Given the description of an element on the screen output the (x, y) to click on. 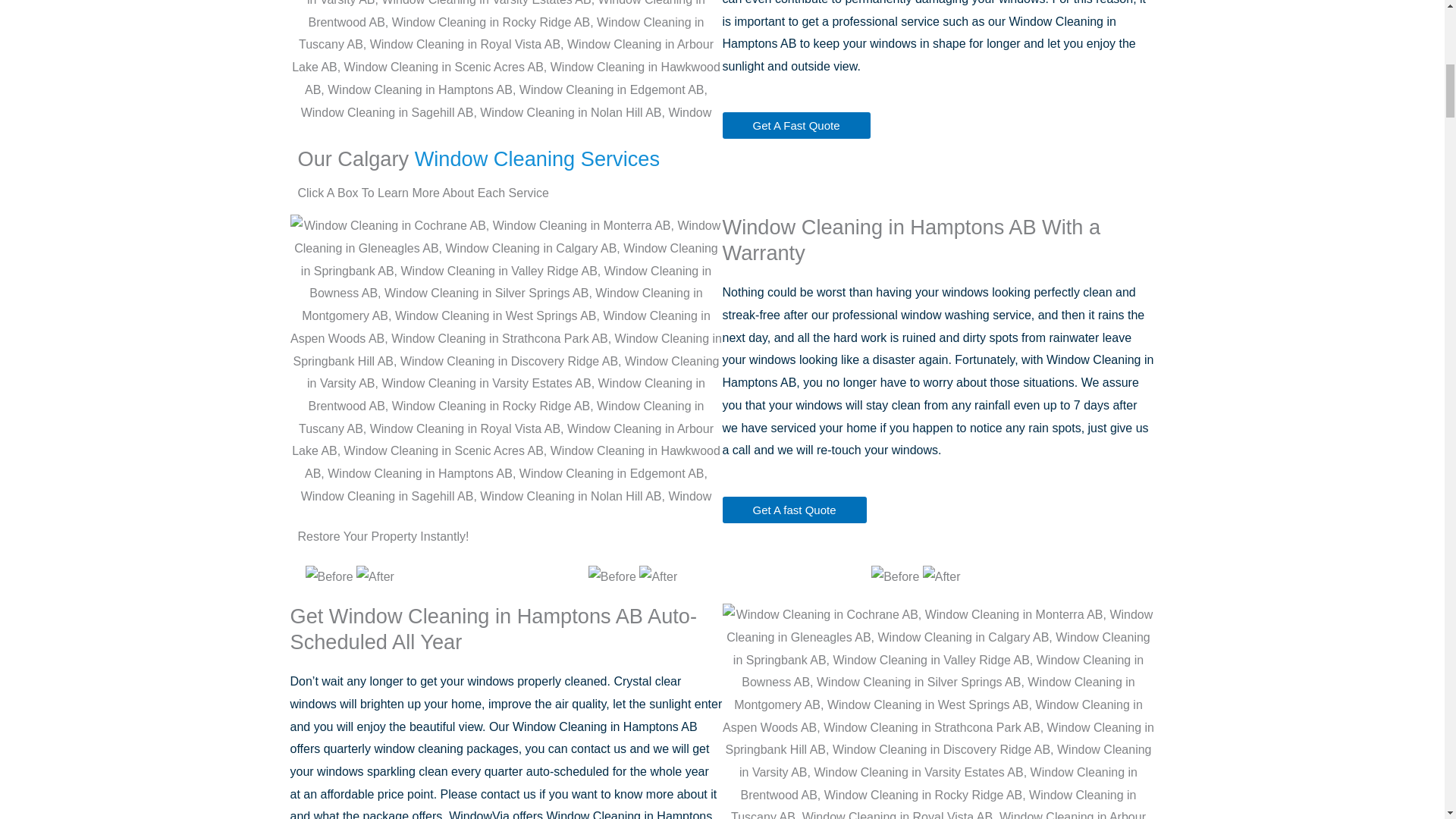
keep your windows in shape for longer (916, 42)
Get A Fast Quote (795, 125)
professional service (885, 21)
